Given the description of an element on the screen output the (x, y) to click on. 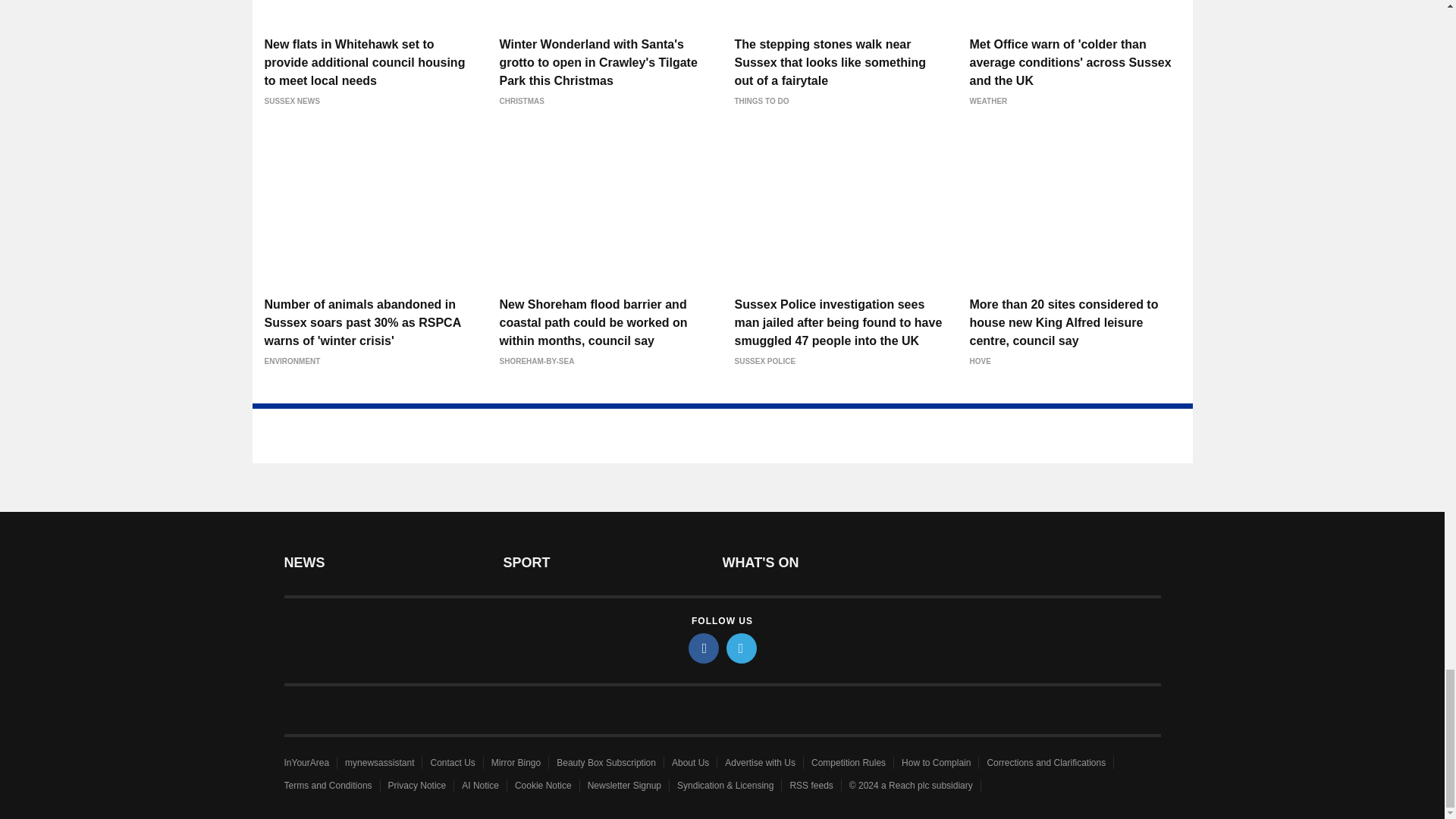
twitter (741, 648)
facebook (703, 648)
